Given the description of an element on the screen output the (x, y) to click on. 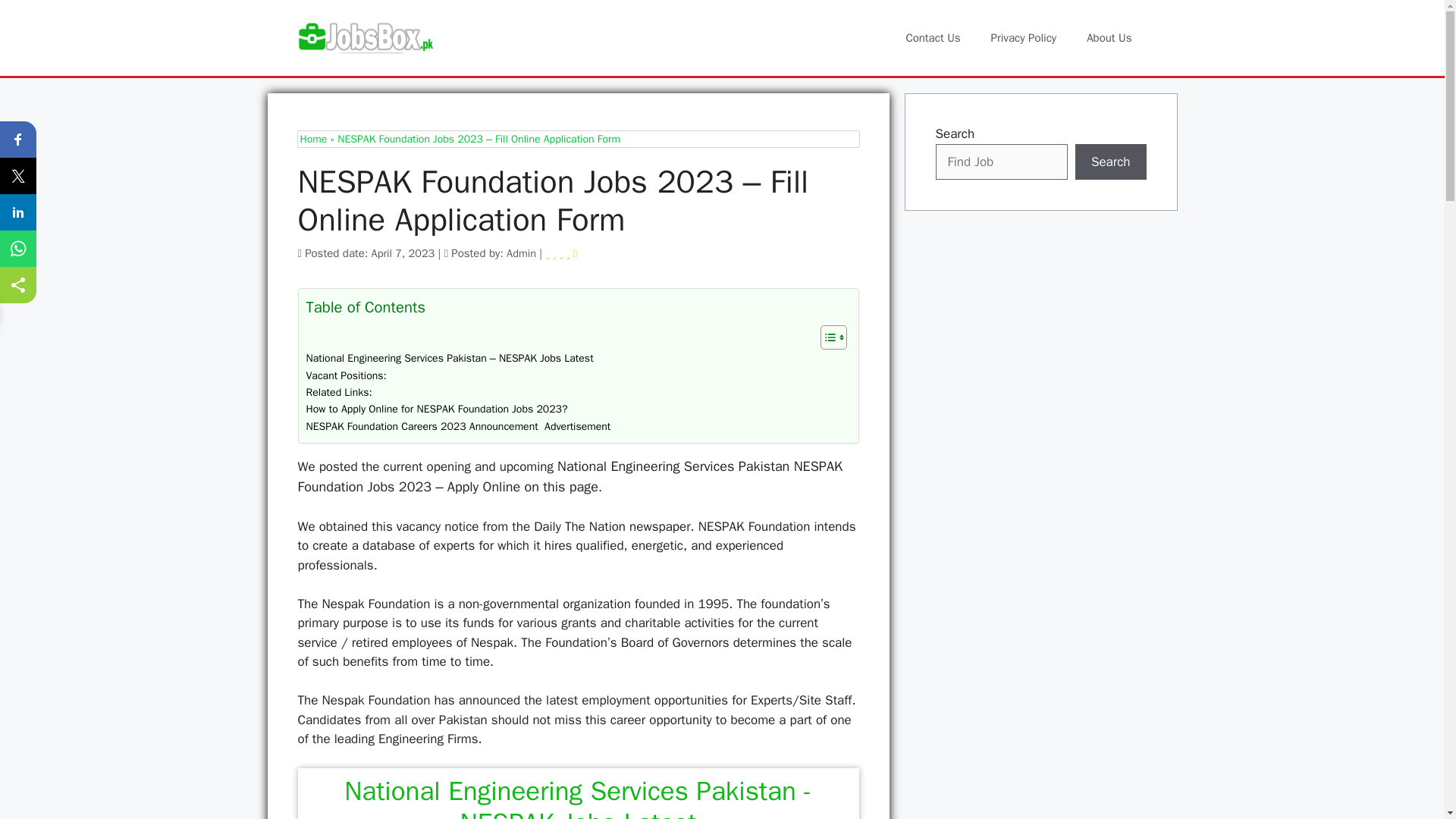
NESPAK Foundation Careers 2023 Announcement  Advertisement (458, 426)
Contact Us (932, 37)
Related Links: (338, 392)
About Us (1109, 37)
Privacy Policy (1023, 37)
Home (313, 138)
How to Apply Online for NESPAK Foundation Jobs 2023? (436, 409)
Vacant Positions: (346, 375)
Vacant Positions: (346, 375)
How to Apply Online for NESPAK Foundation Jobs 2023? (436, 409)
Related Links: (338, 392)
